Given the description of an element on the screen output the (x, y) to click on. 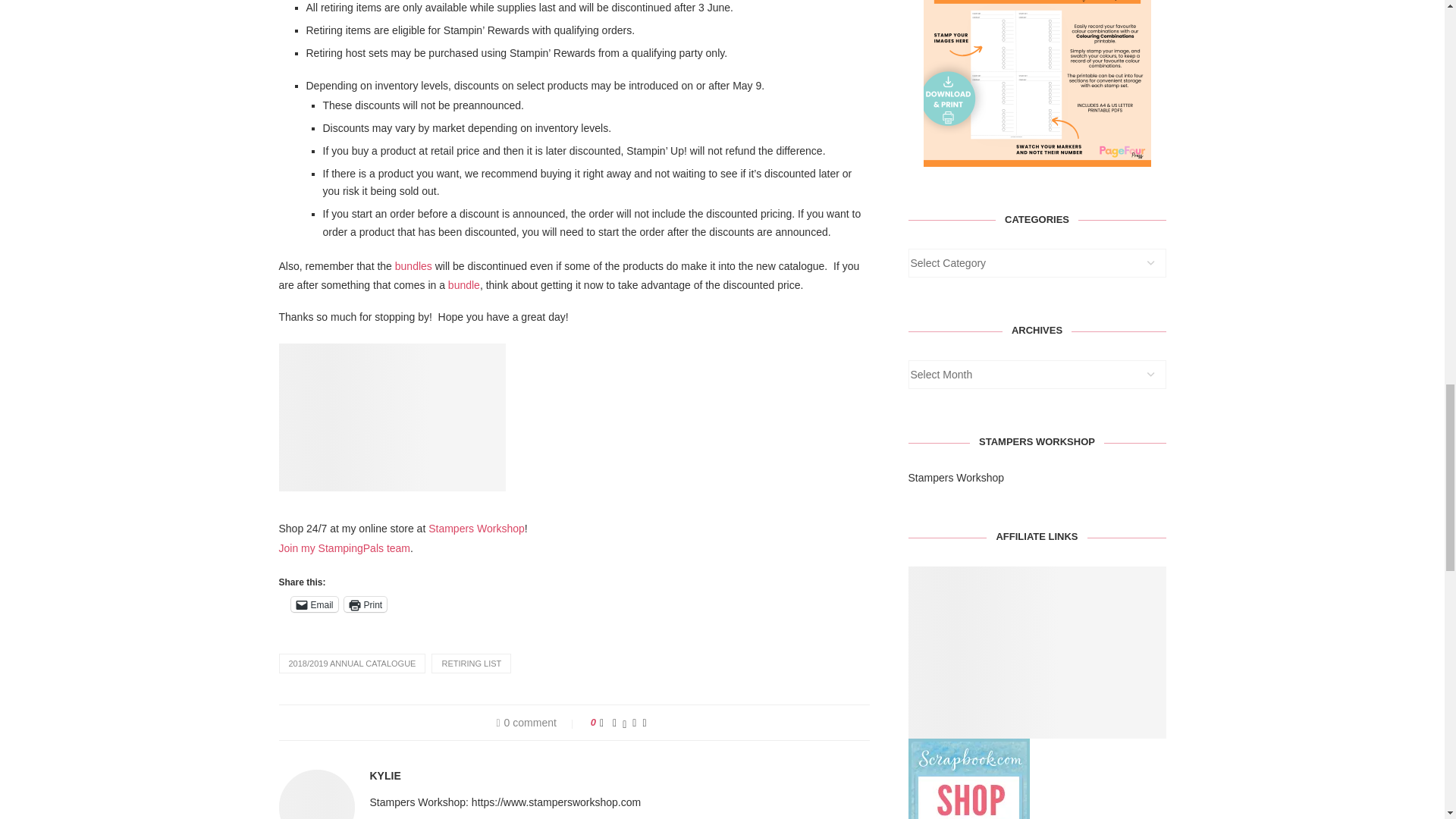
Author Kylie (385, 775)
Join my StampingPals team (344, 548)
RETIRING LIST (470, 663)
Click to print (365, 604)
Click to email a link to a friend (314, 604)
bundles (413, 265)
Stampers Workshop (476, 528)
Email (314, 604)
bundle (464, 285)
Print (365, 604)
